Given the description of an element on the screen output the (x, y) to click on. 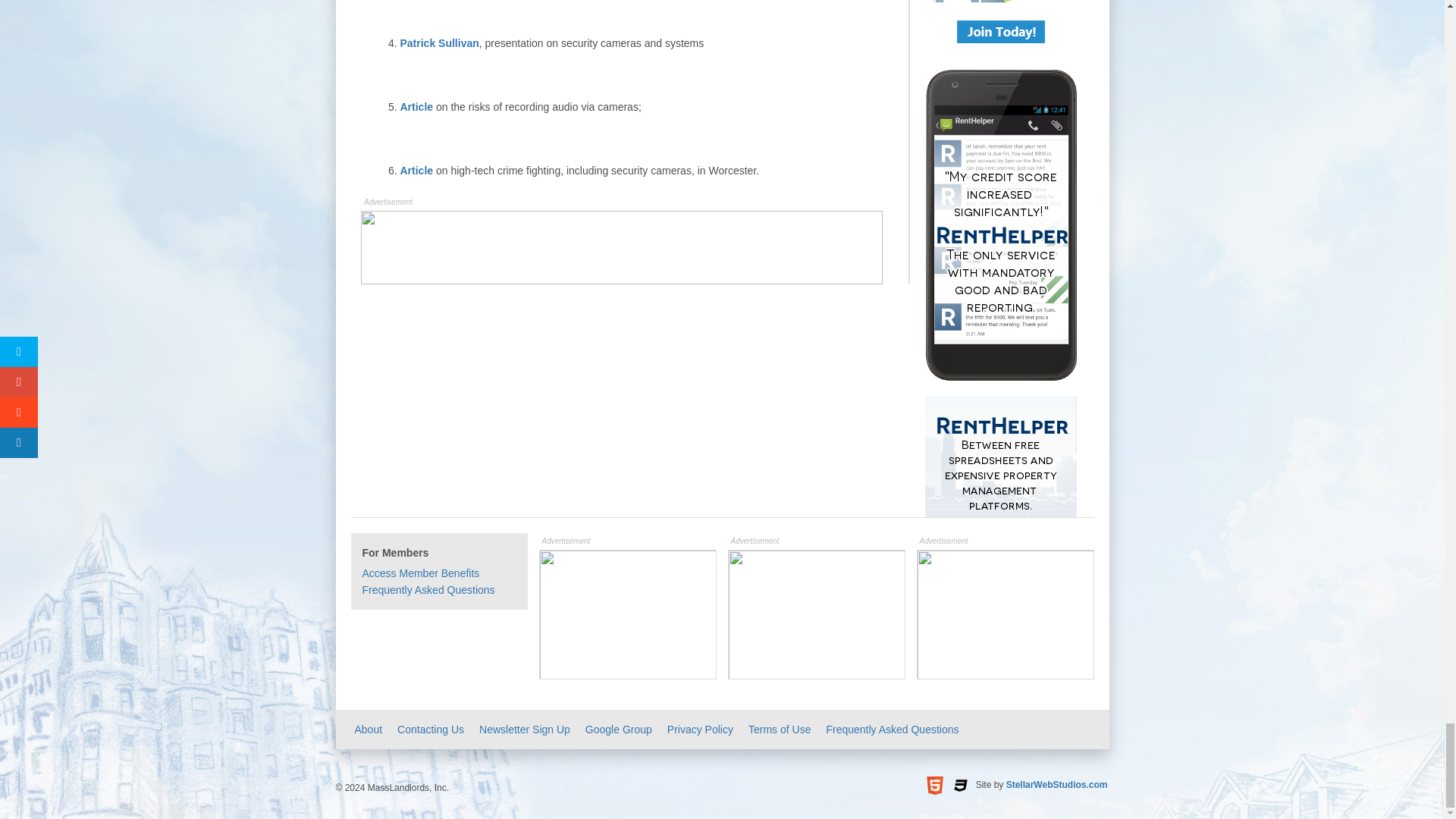
Member Home Page (421, 573)
Styled Using CSS3 (960, 785)
Built Using HTML5 (934, 785)
